Given the description of an element on the screen output the (x, y) to click on. 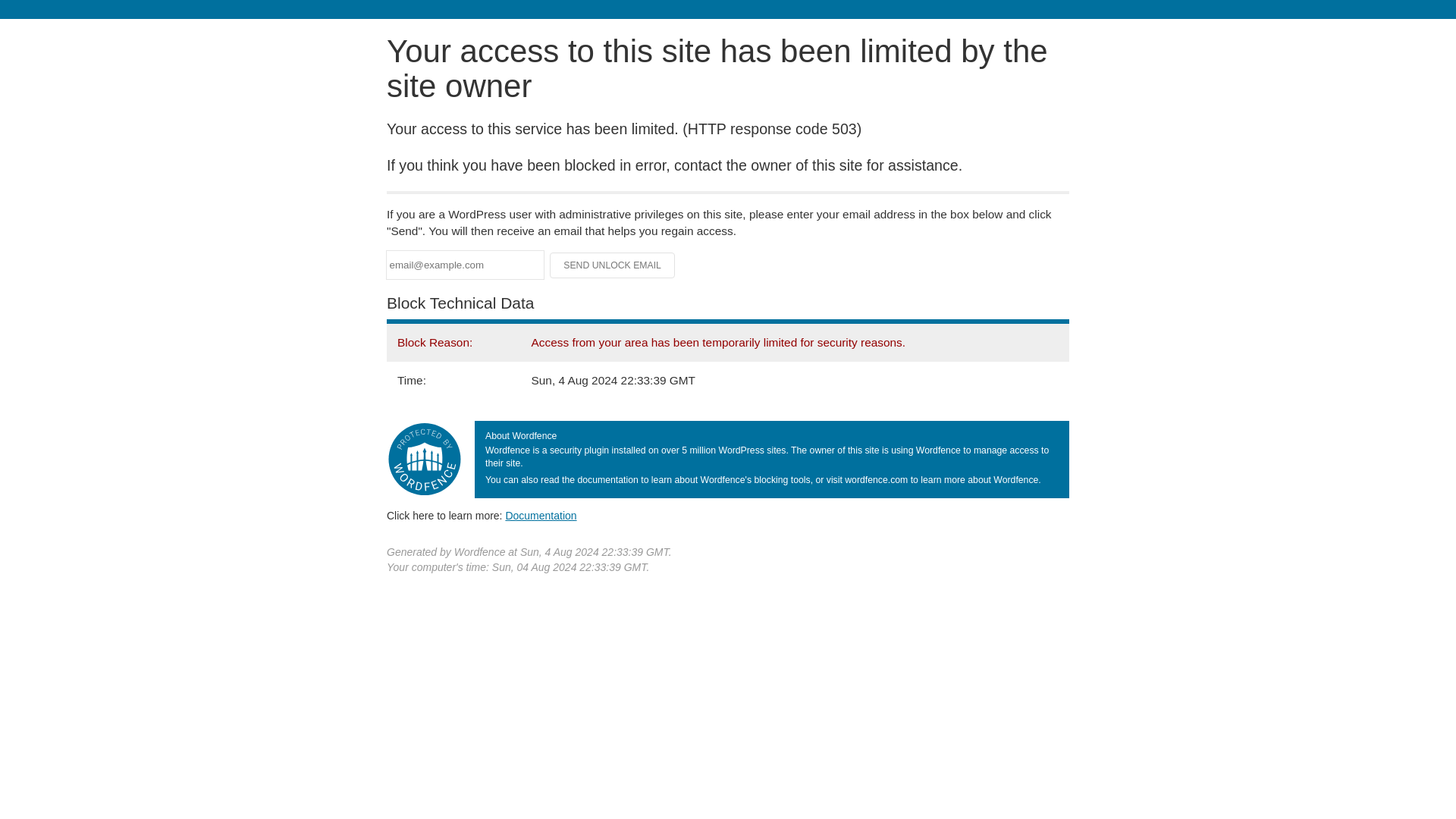
Documentation (540, 515)
Send Unlock Email (612, 265)
Send Unlock Email (612, 265)
